Given the description of an element on the screen output the (x, y) to click on. 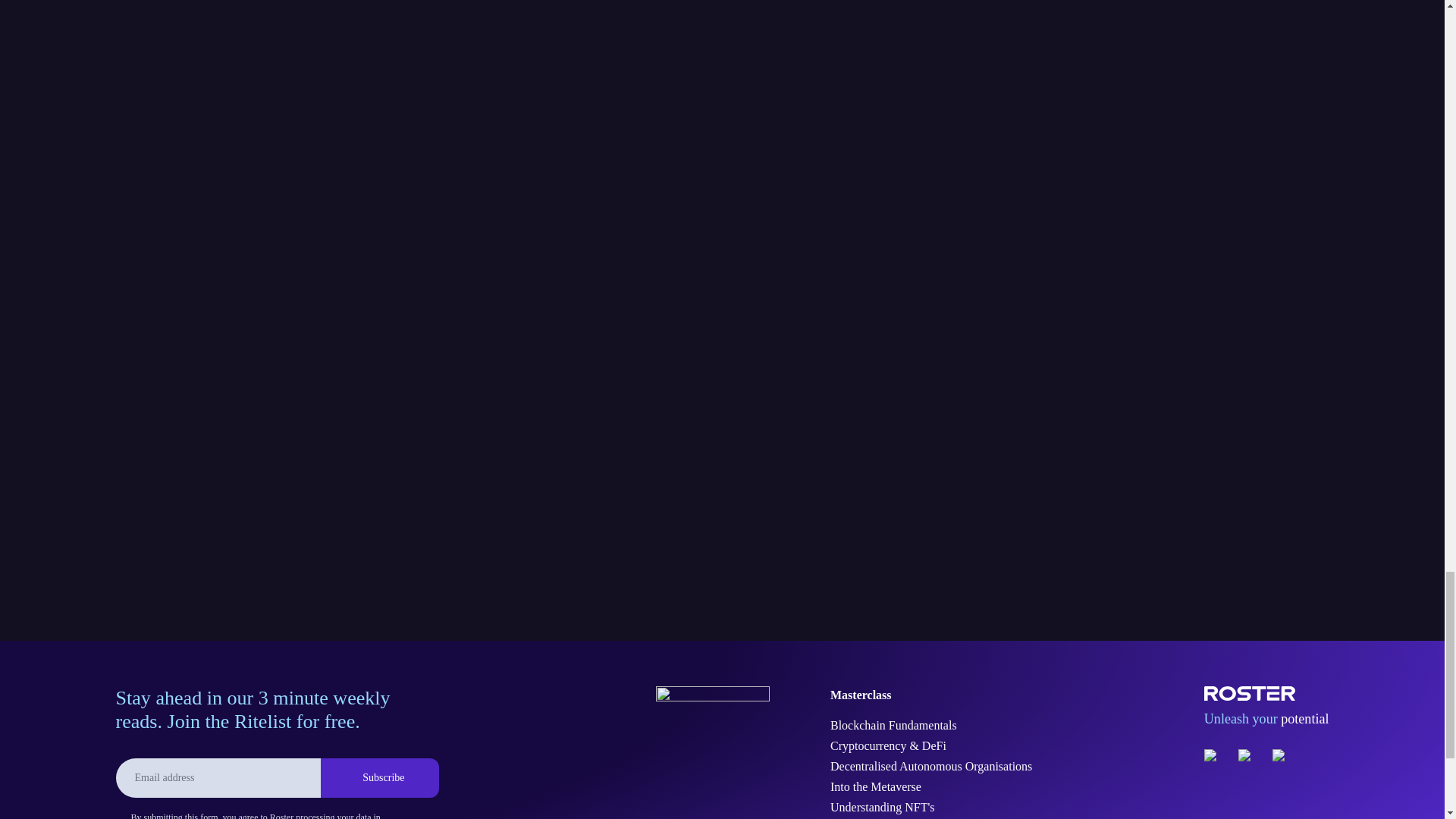
Decentralised Autonomous Organisations (930, 766)
Masterclass (930, 695)
Blockchain Fundamentals (930, 725)
Subscribe (379, 777)
Understanding NFT's (930, 807)
Subscribe (379, 777)
Into the Metaverse (930, 787)
